Given the description of an element on the screen output the (x, y) to click on. 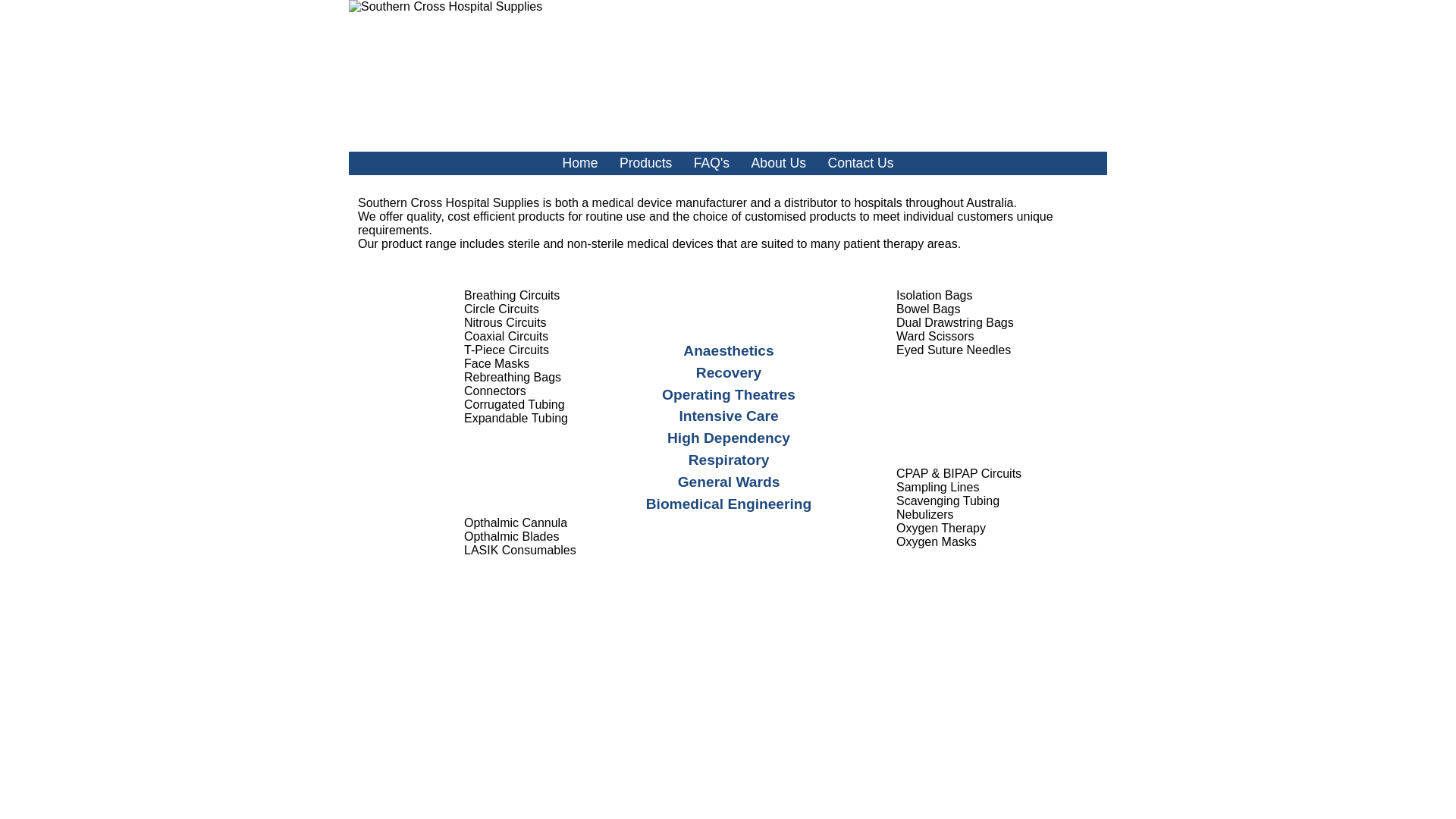
Home Element type: text (580, 162)
Products Element type: text (645, 162)
FAQ's Element type: text (711, 162)
About Us Element type: text (778, 162)
Contact Us Element type: text (860, 162)
